Given the description of an element on the screen output the (x, y) to click on. 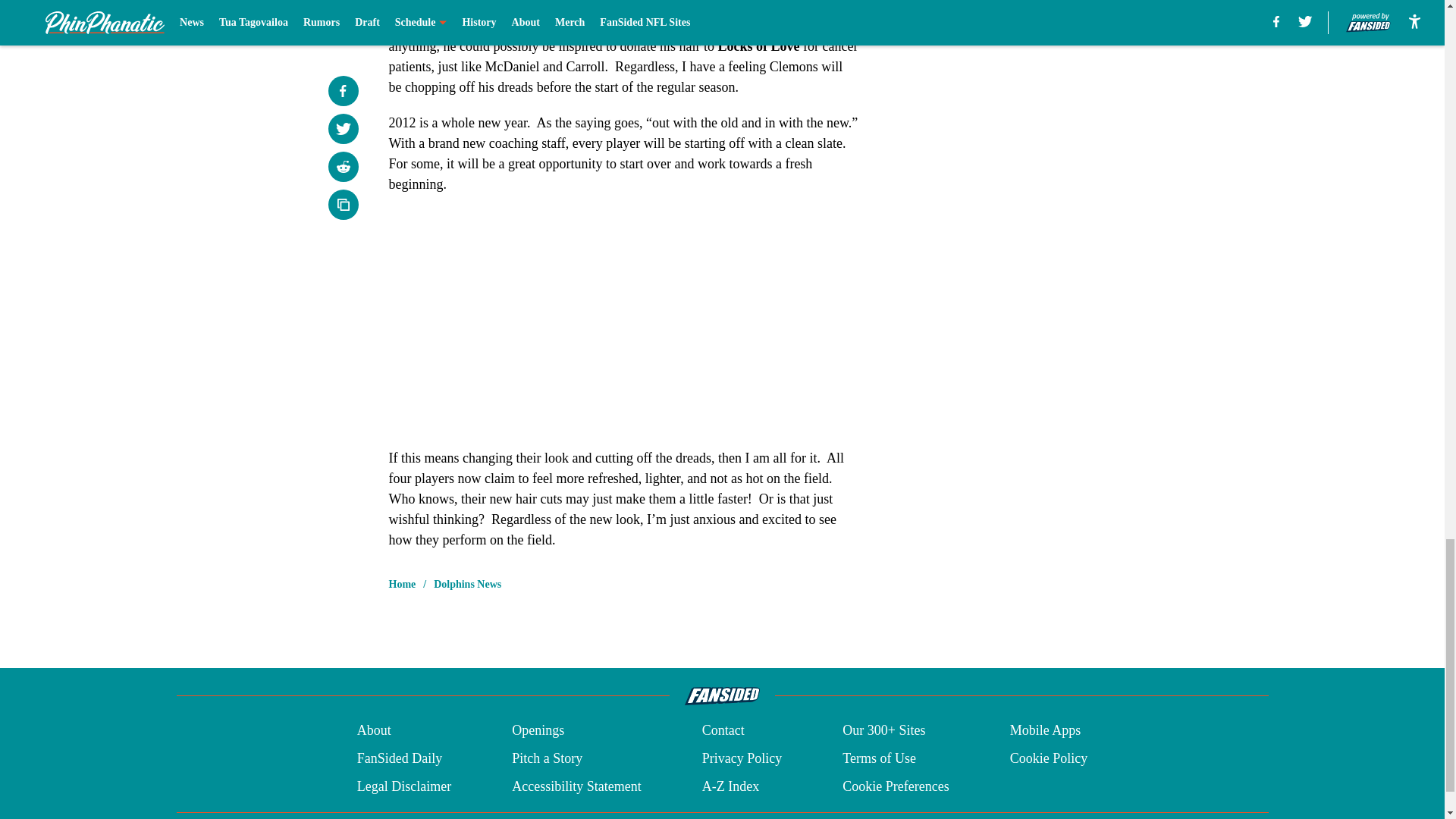
About (373, 730)
Dolphins News (466, 584)
Legal Disclaimer (403, 786)
Terms of Use (879, 758)
Cookie Policy (1048, 758)
Mobile Apps (1045, 730)
Cookie Preferences (896, 786)
Contact (722, 730)
Home (401, 584)
Pitch a Story (547, 758)
